Given the description of an element on the screen output the (x, y) to click on. 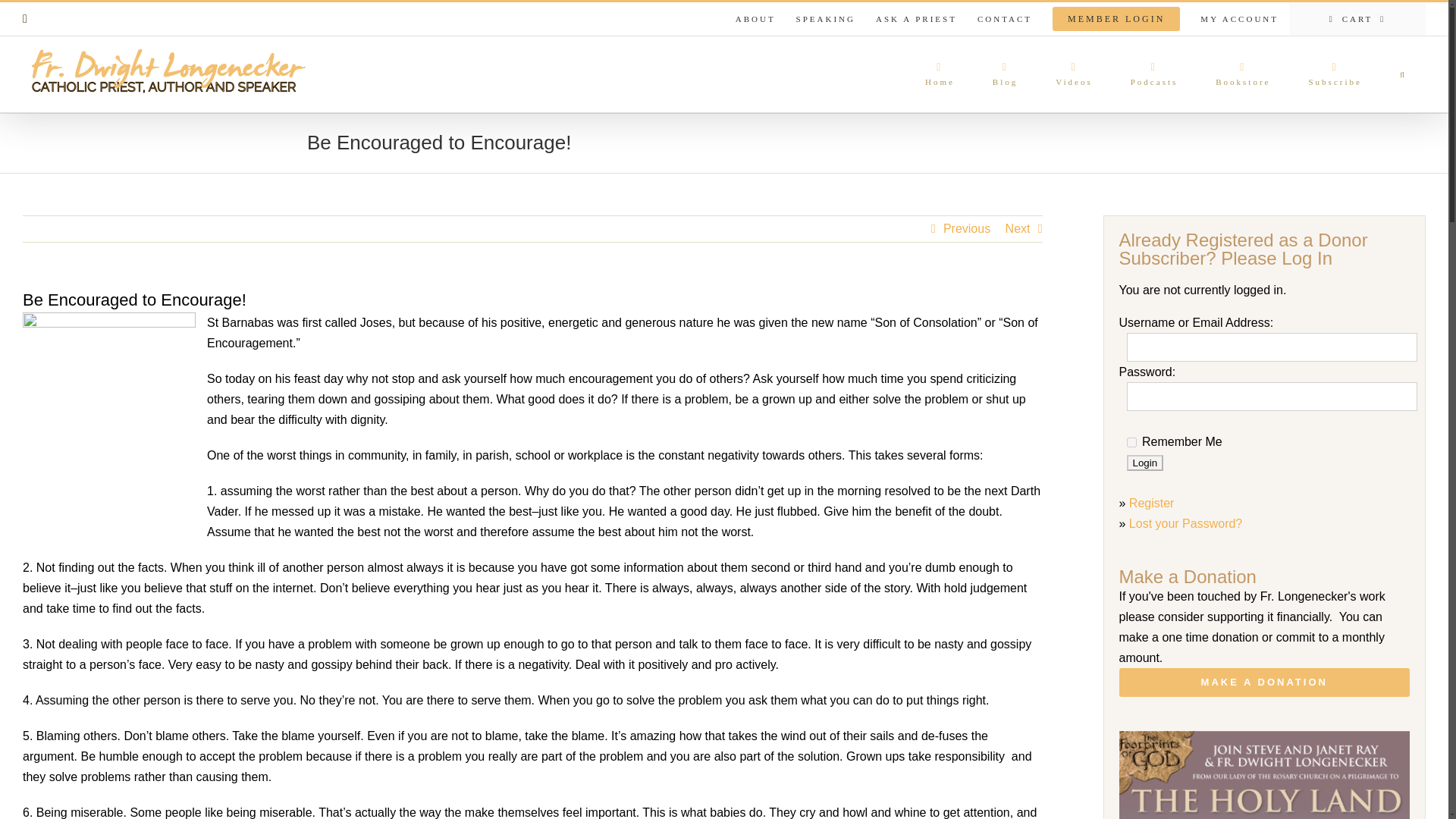
ABOUT (755, 19)
CONTACT (1005, 19)
SPEAKING (825, 19)
Log In (1273, 160)
forever (1131, 442)
Home (939, 74)
CART (1356, 19)
Login (1144, 462)
MY ACCOUNT (1239, 19)
MEMBER LOGIN (1115, 19)
ASK A PRIEST (916, 19)
